Given the description of an element on the screen output the (x, y) to click on. 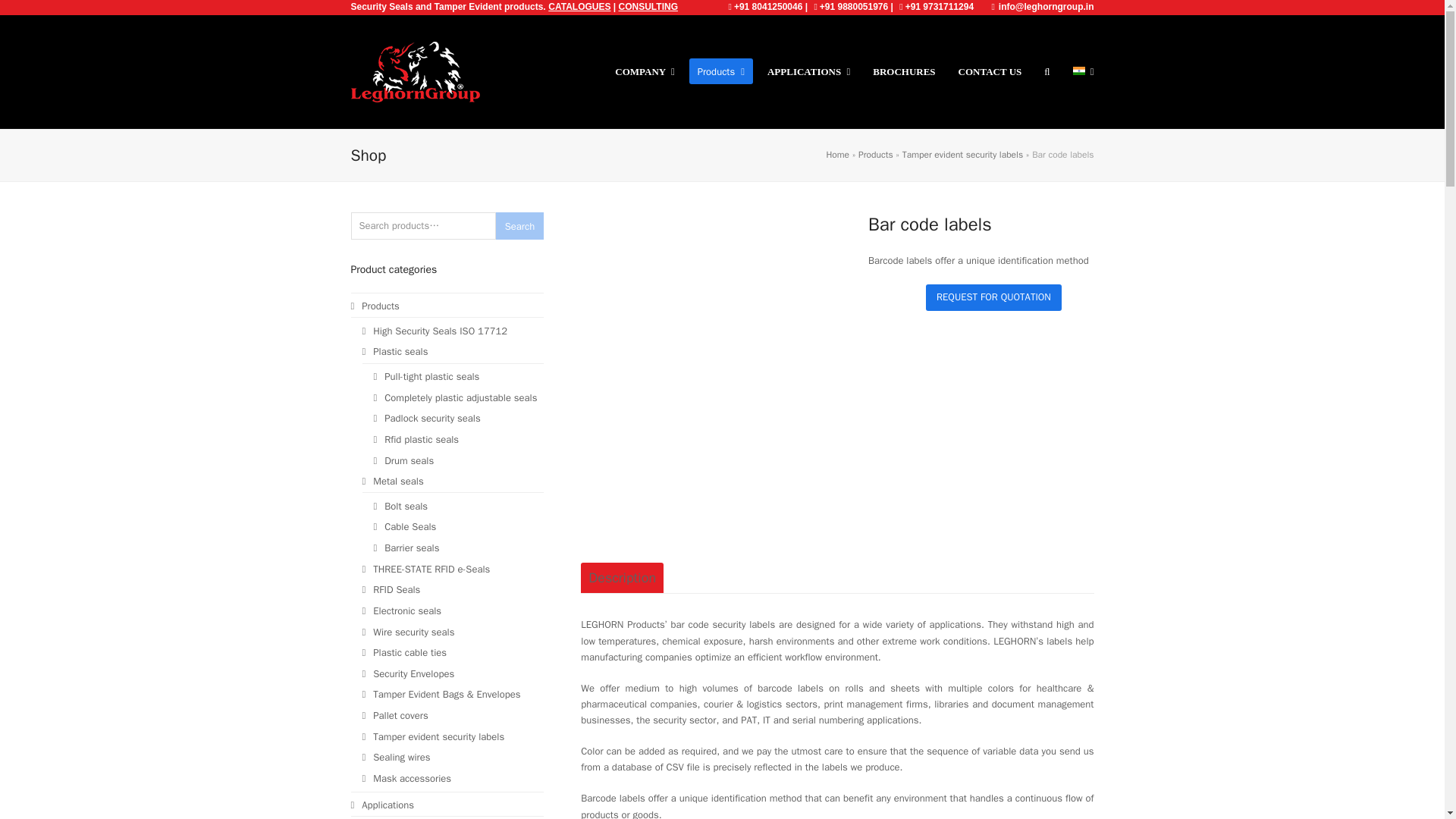
CATALOGUES (579, 6)
COMPANY (644, 71)
Products (720, 71)
CONSULTING (648, 6)
